Given the description of an element on the screen output the (x, y) to click on. 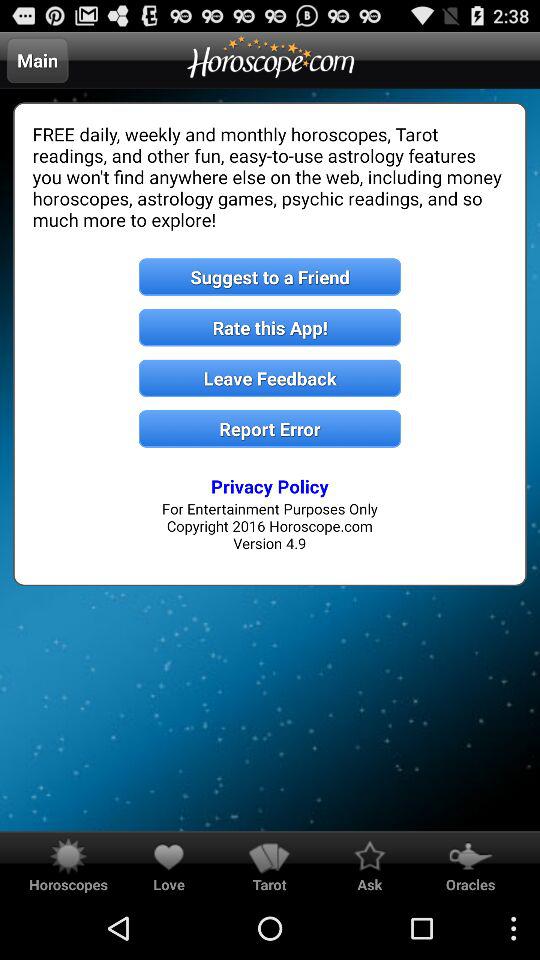
click the item below the free daily weekly item (269, 276)
